Given the description of an element on the screen output the (x, y) to click on. 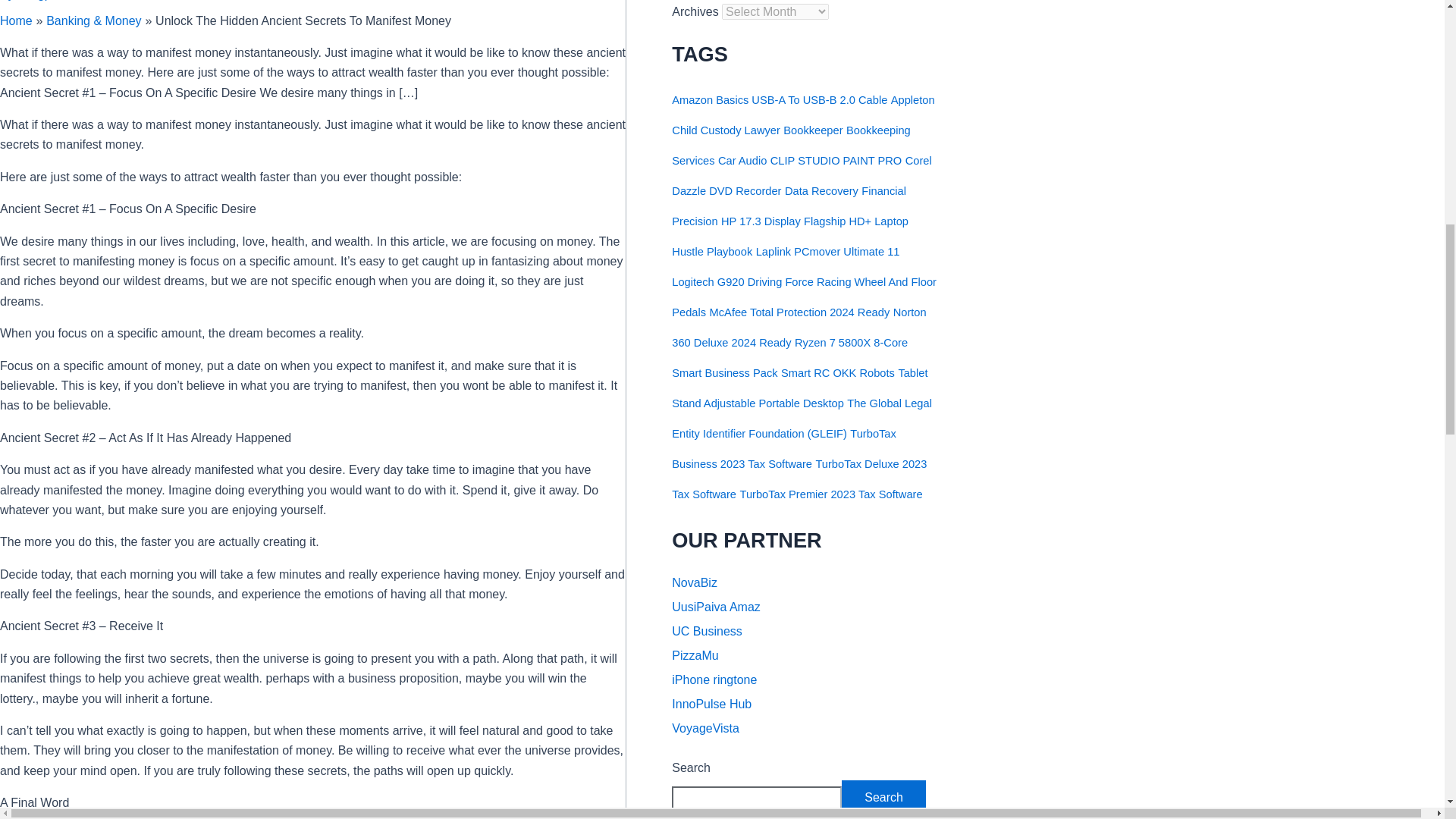
Home (16, 19)
nangpooh (44, 0)
View all posts by nangpooh (44, 0)
